Given the description of an element on the screen output the (x, y) to click on. 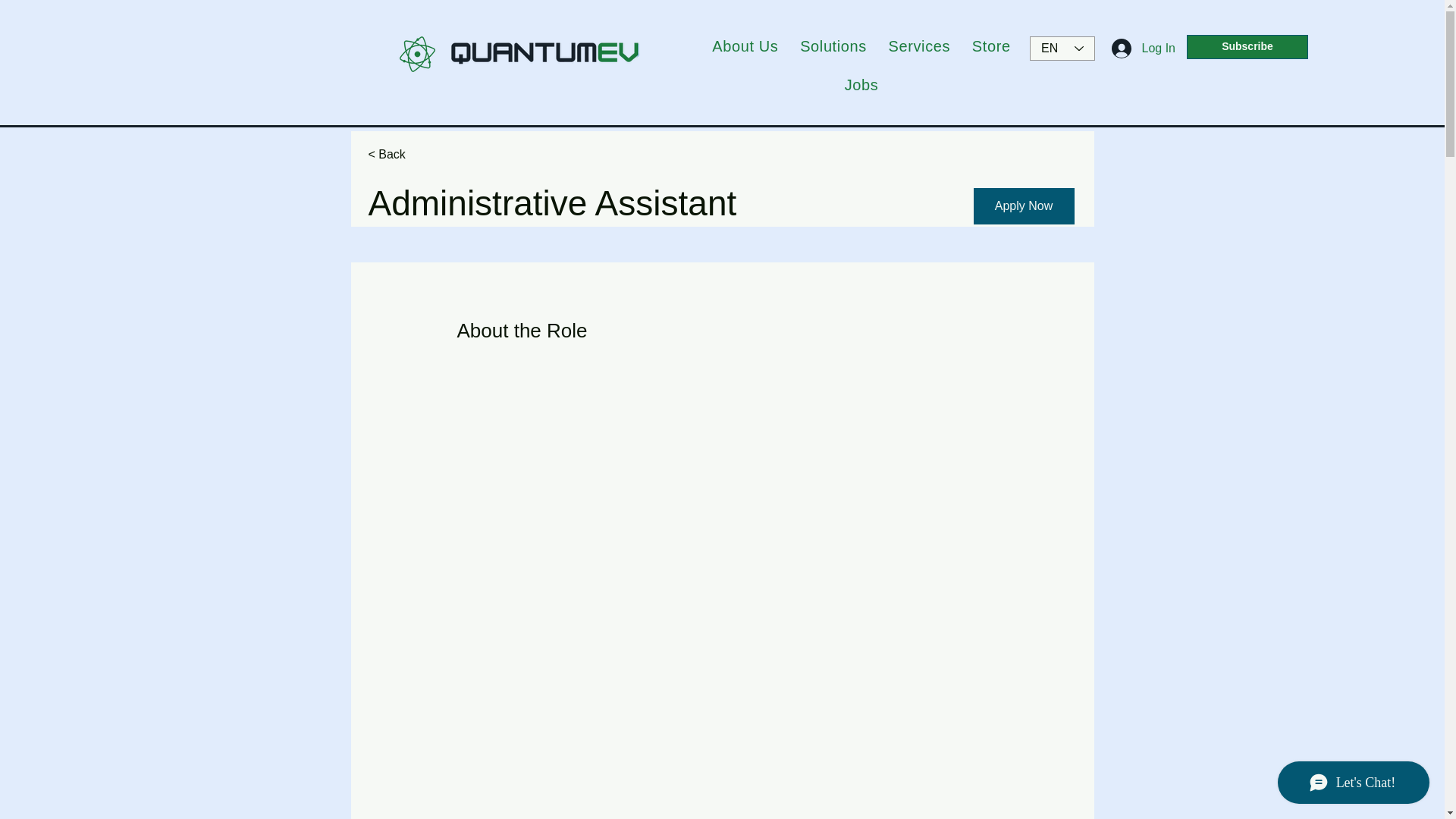
Jobs (861, 84)
Subscribe (1246, 46)
Services (918, 46)
Solutions (833, 46)
Log In (1143, 48)
Store (991, 46)
